Given the description of an element on the screen output the (x, y) to click on. 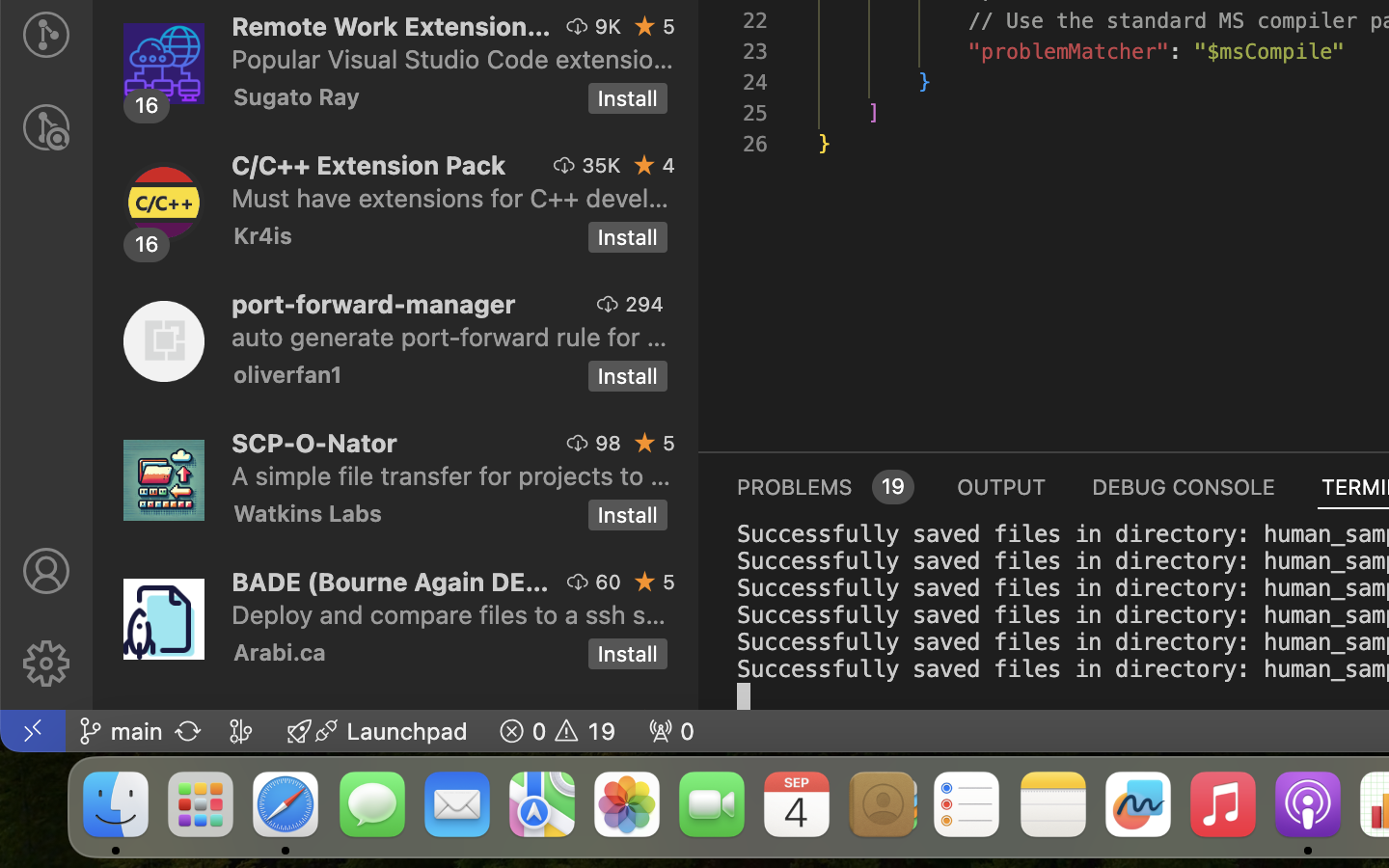
SCP-O-Nator Element type: AXStaticText (314, 442)
Sugato Ray Element type: AXStaticText (296, 95)
main  Element type: AXButton (120, 730)
98 Element type: AXStaticText (608, 442)
Deploy and compare files to a ssh server Element type: AXStaticText (449, 613)
